Given the description of an element on the screen output the (x, y) to click on. 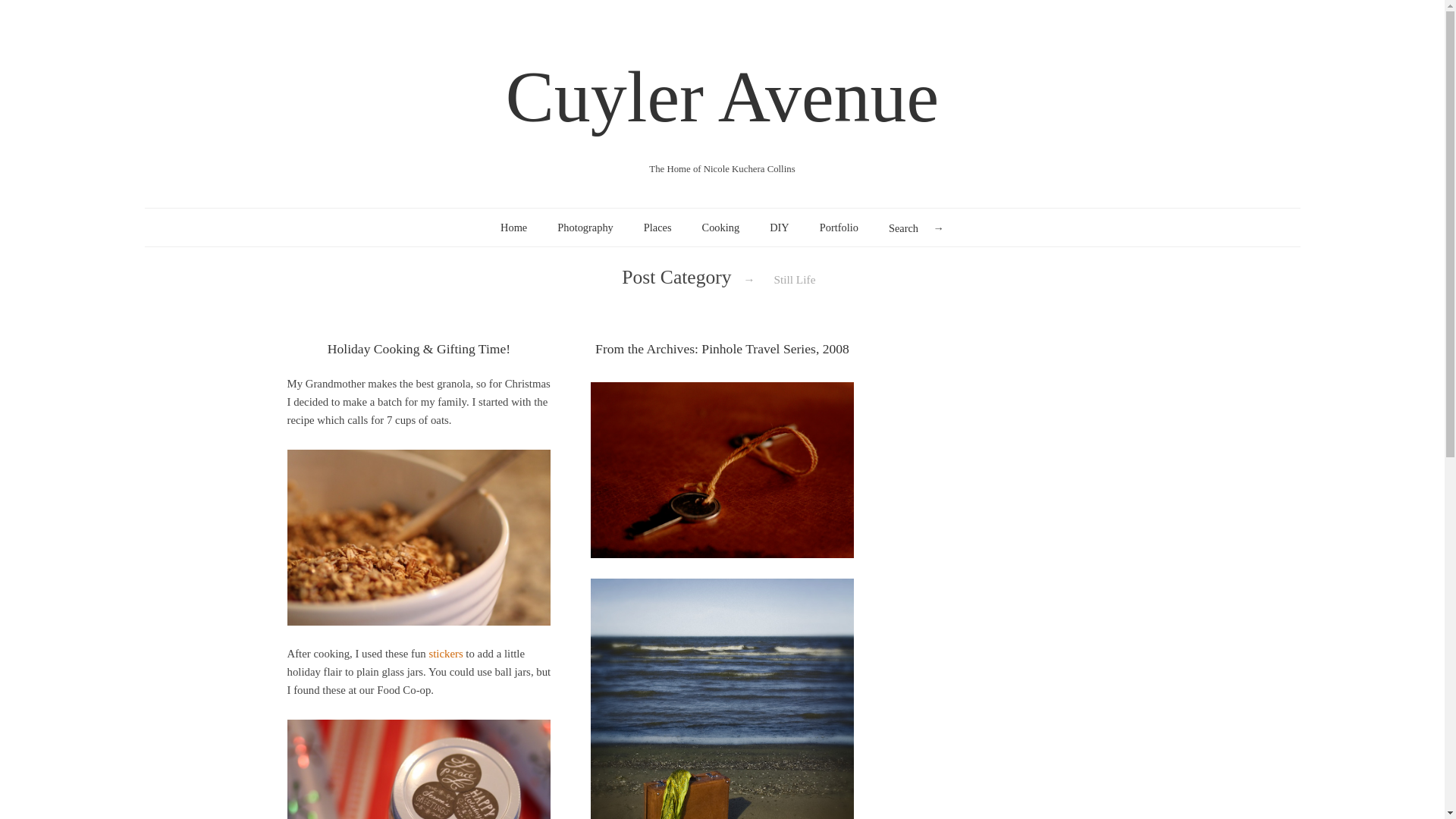
Places (657, 227)
Cooking (720, 227)
Photography (584, 227)
From the Archives: Pinhole Travel Series, 2008 (721, 348)
Home (513, 227)
Cuyler Avenue (722, 96)
Enter keyword (915, 228)
Portfolio (839, 227)
stickers (445, 653)
DIY (779, 227)
